Given the description of an element on the screen output the (x, y) to click on. 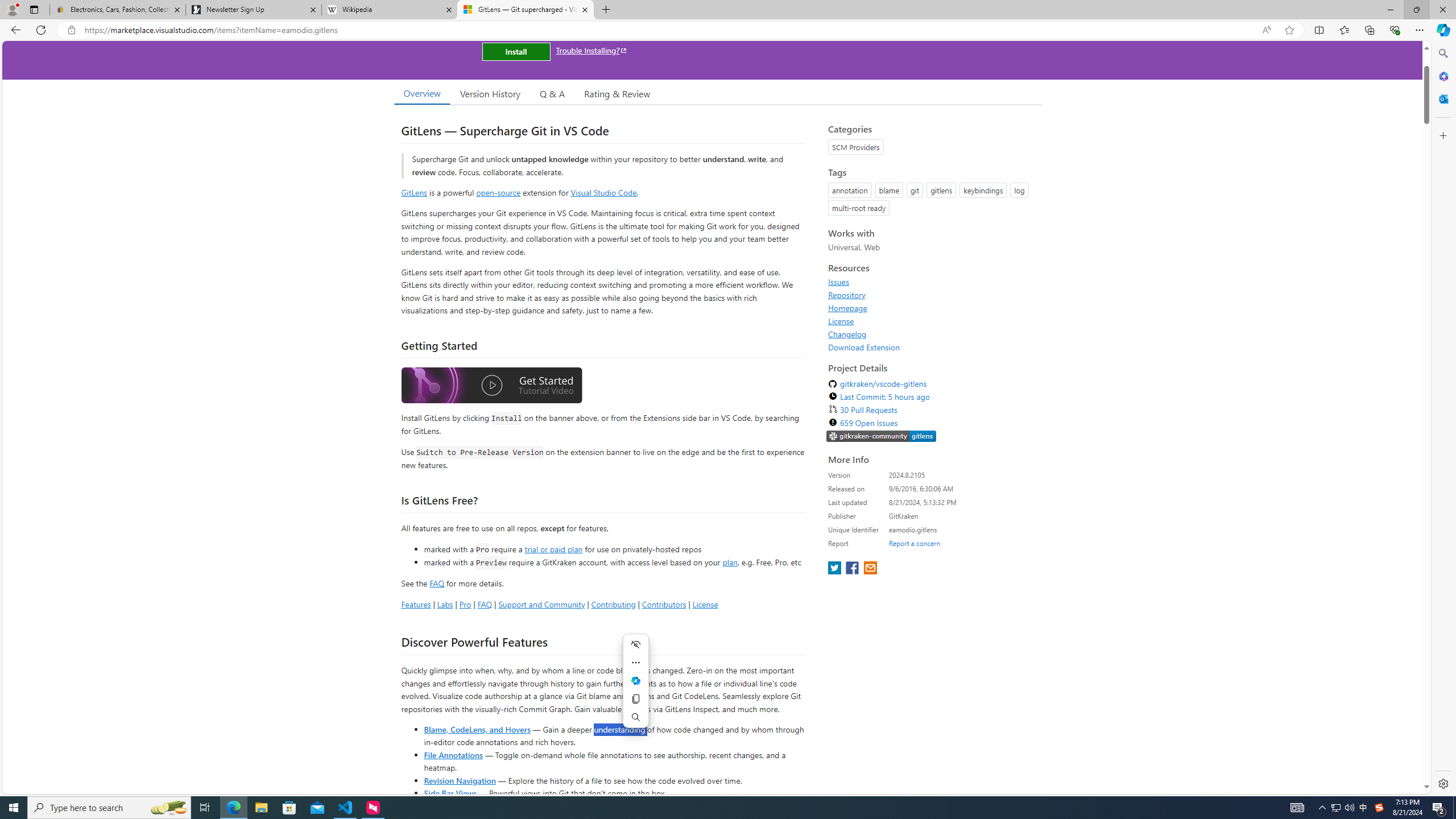
Contributing (613, 603)
share extension on facebook (853, 568)
Pro (464, 603)
Mini menu on text selection (635, 680)
Watch the GitLens Getting Started video (491, 387)
